Given the description of an element on the screen output the (x, y) to click on. 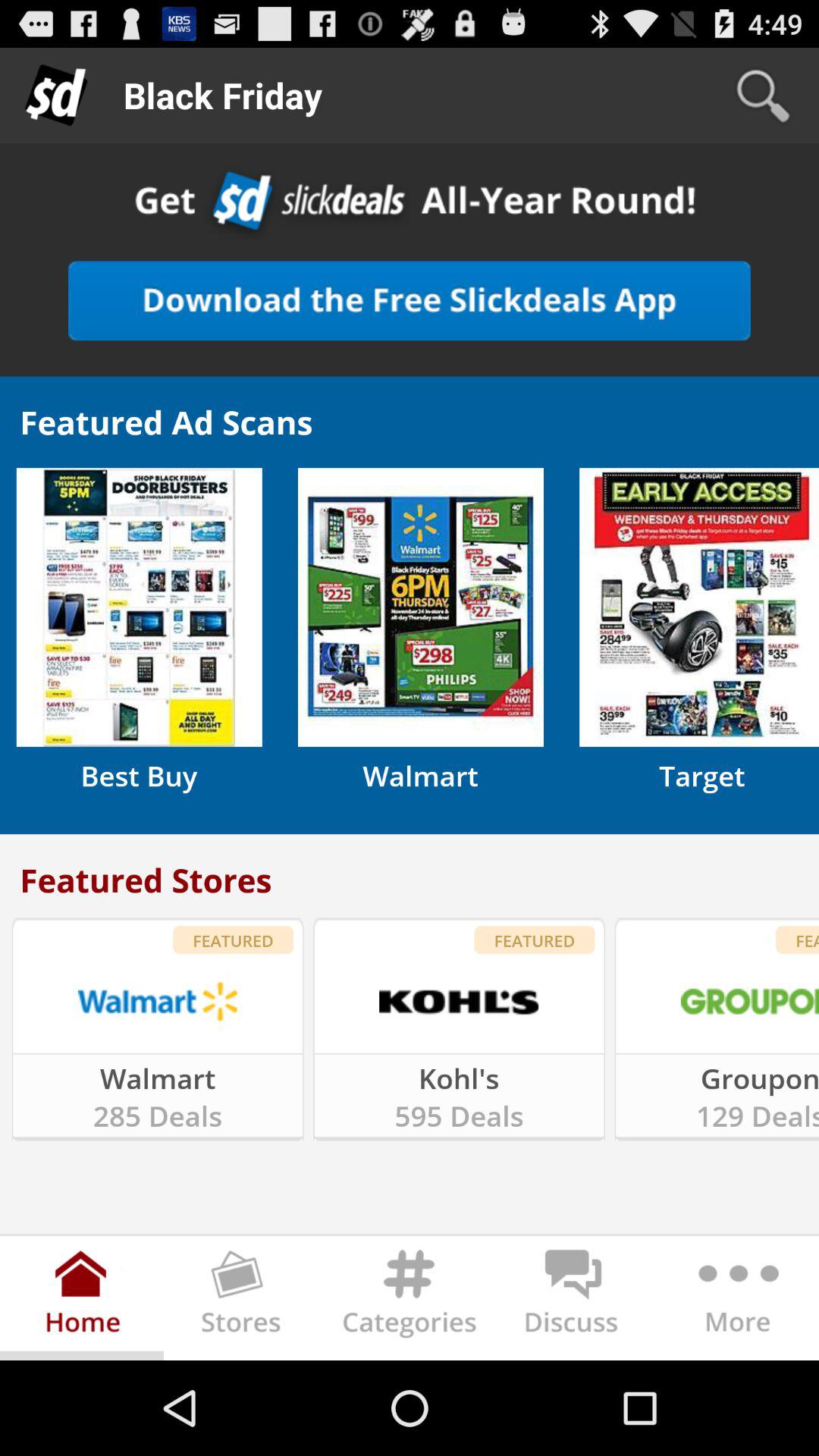
stories (245, 1301)
